Given the description of an element on the screen output the (x, y) to click on. 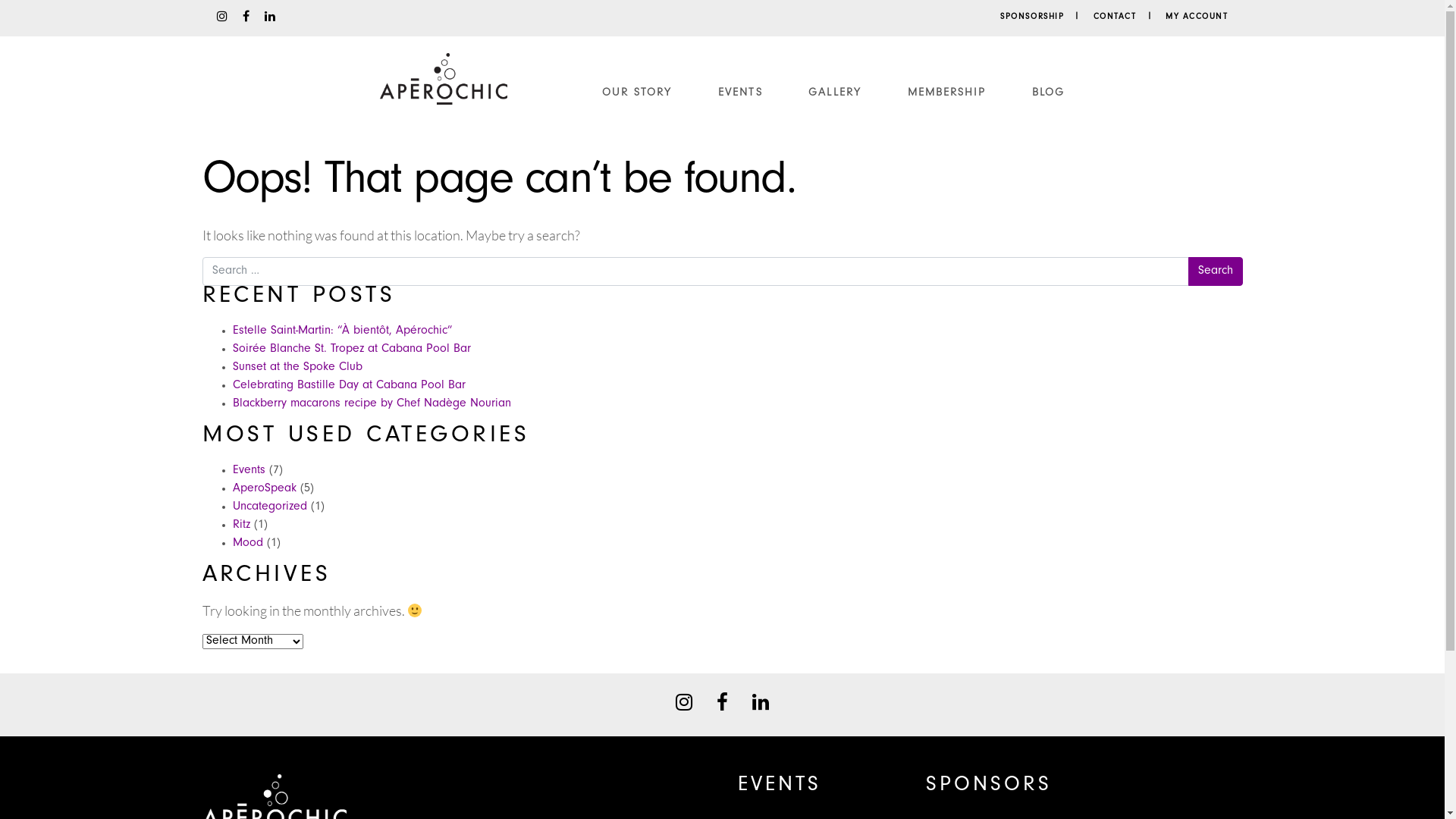
OUR STORY Element type: text (637, 95)
Ritz Element type: text (240, 525)
MY ACCOUNT Element type: text (1196, 18)
Uncategorized Element type: text (269, 507)
MEMBERSHIP Element type: text (946, 95)
BLOG Element type: text (1048, 95)
SPONSORSHIP Element type: text (1044, 18)
Mood Element type: text (247, 543)
Sunset at the Spoke Club Element type: text (296, 367)
Search Element type: text (1214, 271)
EVENTS Element type: text (740, 95)
GALLERY Element type: text (834, 95)
AperoSpeak Element type: text (263, 489)
Events Element type: text (248, 470)
CONTACT Element type: text (1127, 18)
Celebrating Bastille Day at Cabana Pool Bar Element type: text (348, 385)
